Given the description of an element on the screen output the (x, y) to click on. 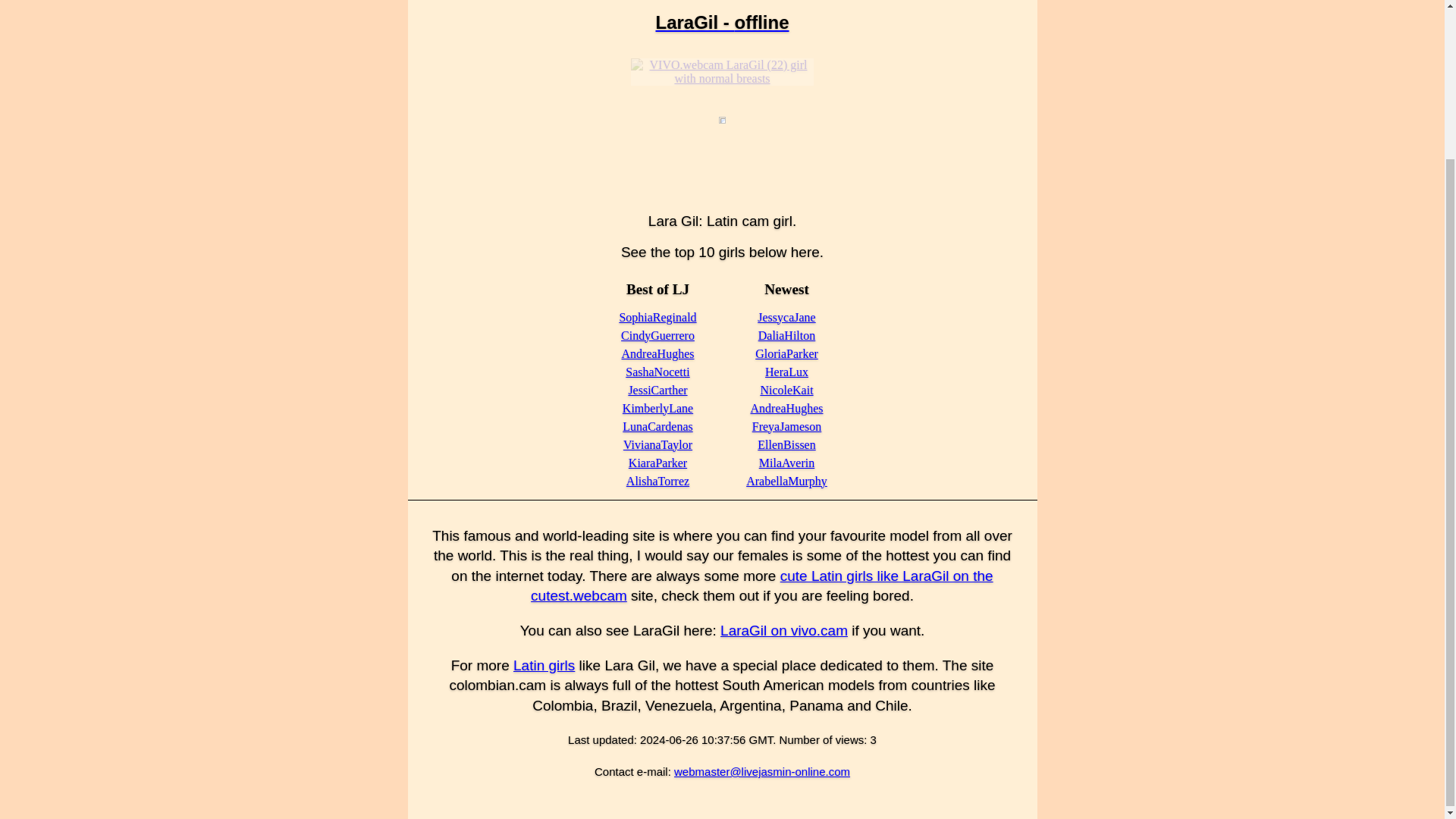
cute Latin girls like LaraGil on the cutest.webcam (761, 586)
MilaAverin (785, 462)
LaraGil on vivo.cam (783, 630)
JessycaJane (786, 317)
DaliaHilton (786, 335)
ArabellaMurphy (786, 481)
Latin girls (544, 665)
CindyGuerrero (657, 335)
AndreaHughes (787, 408)
LaraGil - offline (721, 22)
AlishaTorrez (657, 481)
FreyaJameson (787, 426)
GloriaParker (786, 353)
AndreaHughes (657, 353)
EllenBissen (786, 444)
